Given the description of an element on the screen output the (x, y) to click on. 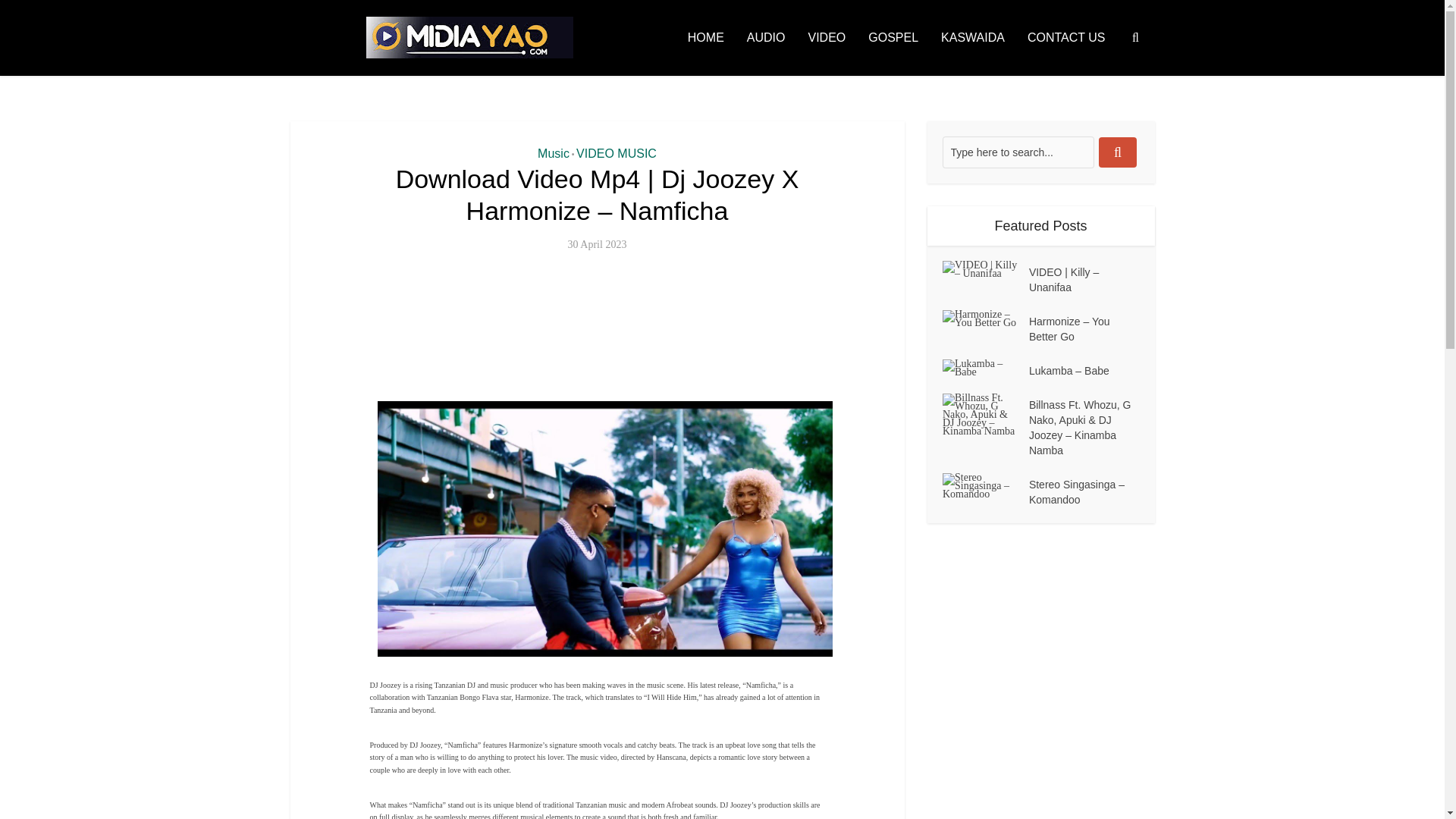
KASWAIDA (973, 38)
Type here to search... (1017, 152)
CONTACT US (1066, 38)
GOSPEL (893, 38)
Music (553, 153)
Type here to search... (1017, 152)
VIDEO MUSIC (616, 153)
